Given the description of an element on the screen output the (x, y) to click on. 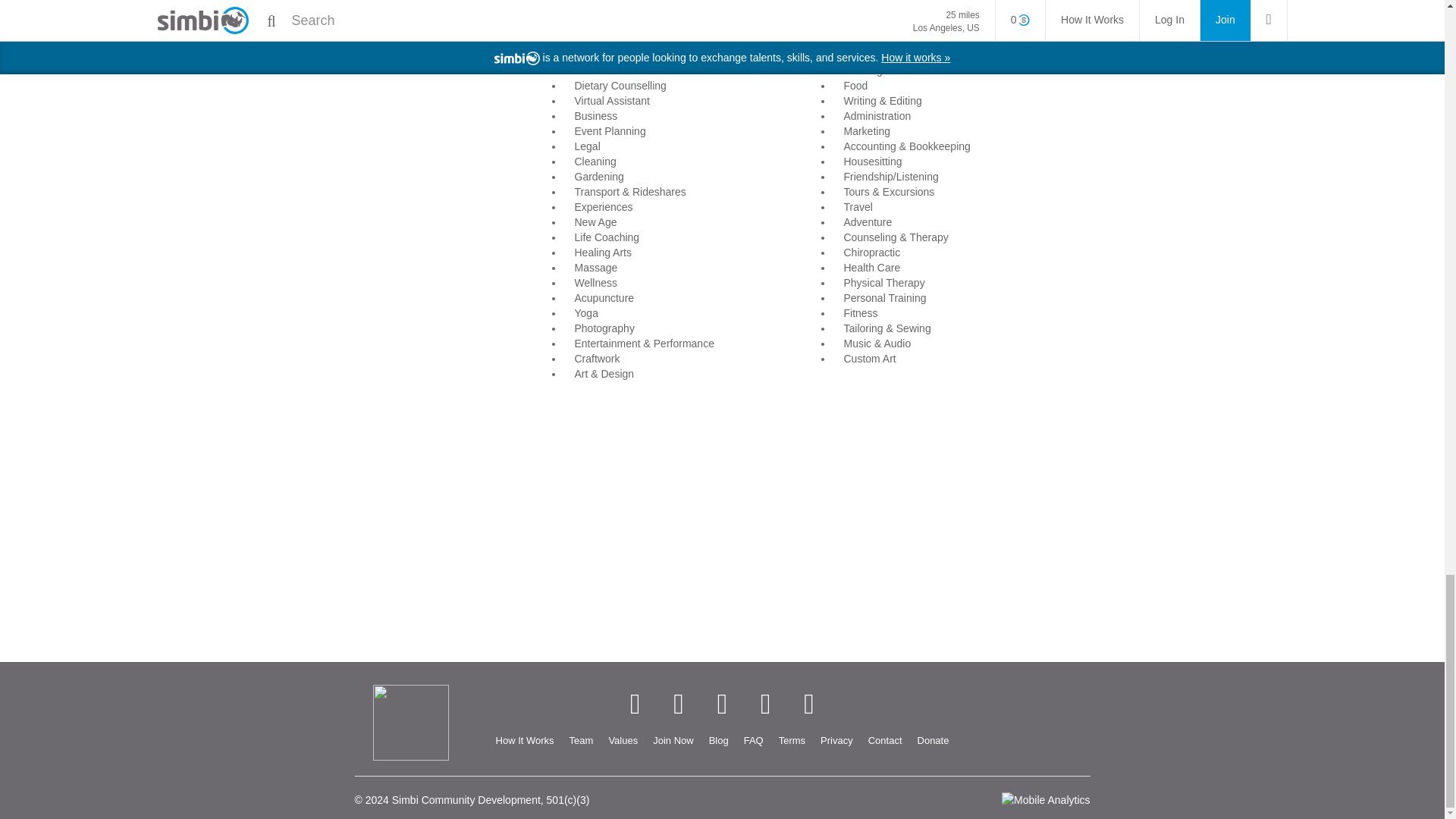
Contact (885, 740)
Privacy (836, 740)
Team (581, 740)
Terms (791, 740)
Values (622, 740)
Linkedin (722, 704)
FAQ (753, 740)
Join (672, 740)
Twitter (678, 704)
Instagram (765, 704)
